Given the description of an element on the screen output the (x, y) to click on. 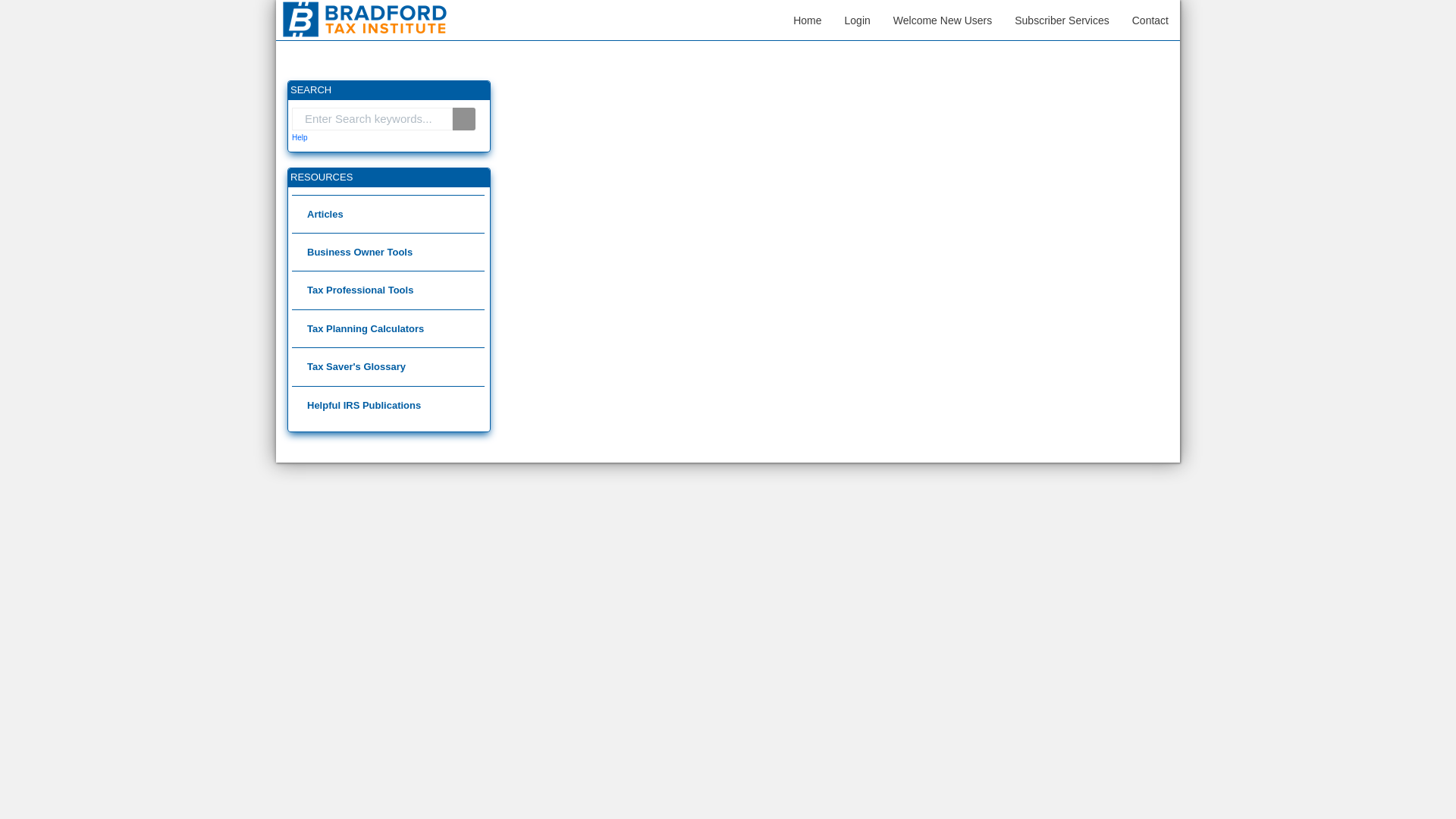
Articles (388, 213)
Contact (1150, 19)
Home (806, 19)
Login (857, 19)
Help (299, 137)
Business Owner Tools (388, 252)
Search (464, 118)
Subscriber Services (1062, 19)
Search (464, 118)
Welcome New Users (942, 19)
